Given the description of an element on the screen output the (x, y) to click on. 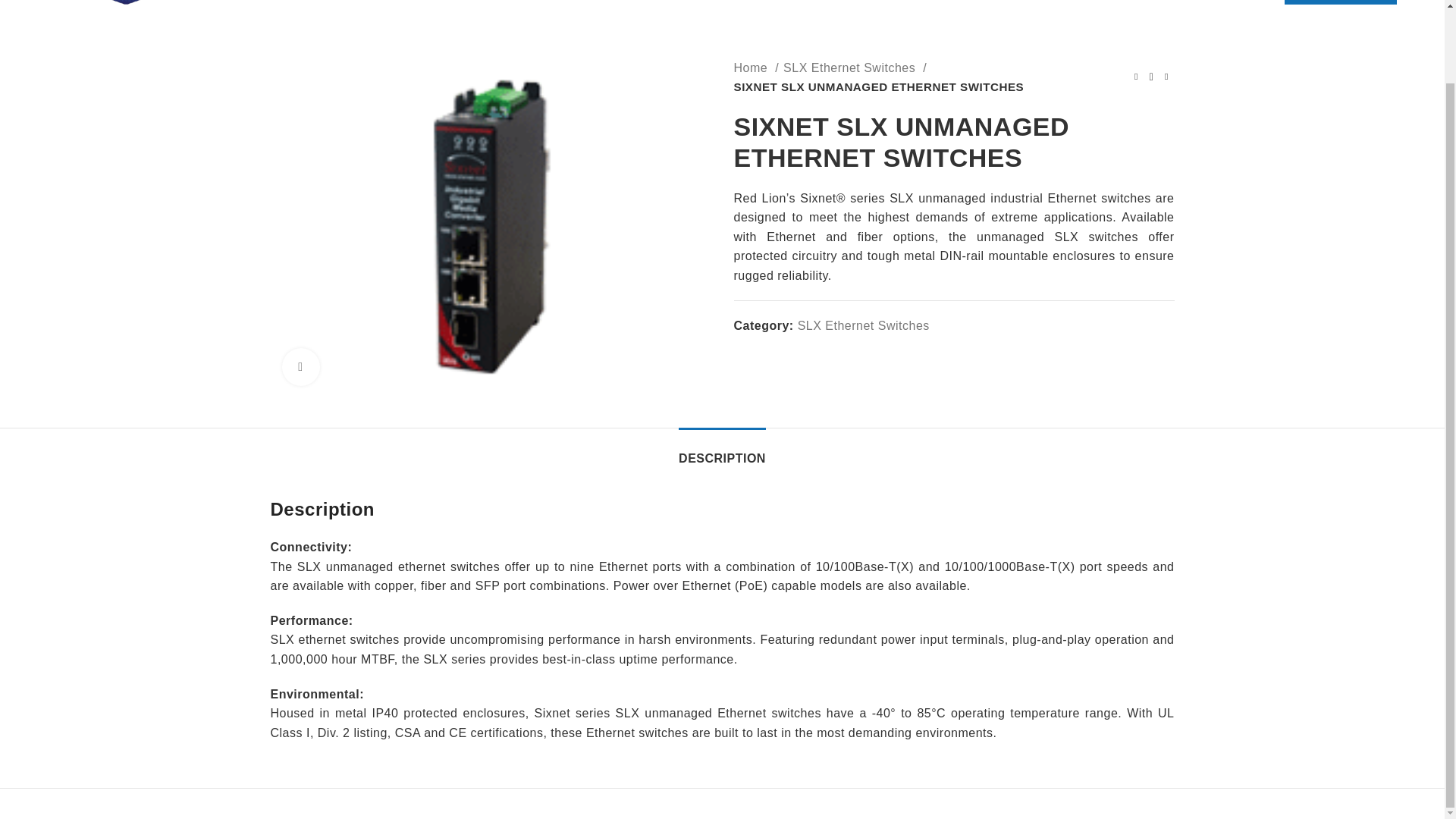
ABOUT US (551, 1)
PRODUCTS (625, 1)
